Given the description of an element on the screen output the (x, y) to click on. 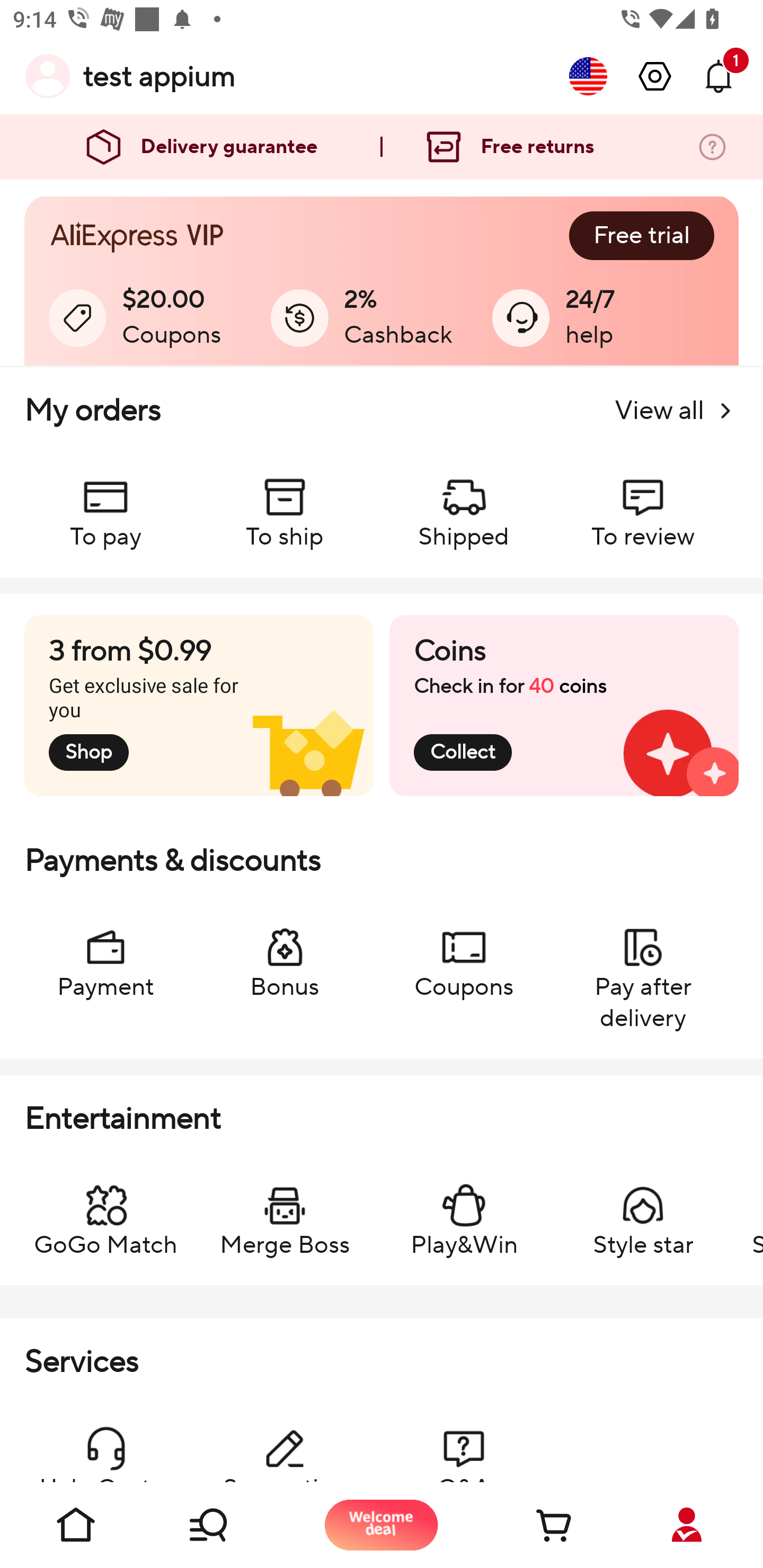
 (654, 75)
Messages 1 (718, 75)
test appium (158, 75)
Free trial $20.00 Coupons 2% Cashback 24/7 help (381, 281)
View all (676, 410)
To pay (105, 503)
To ship (284, 503)
Shipped (463, 503)
To review (642, 503)
3 from $0.99 Get exclusive sale for you Shop (198, 705)
Coins Check in for 40 coins Collect (563, 705)
Payment (105, 953)
Bonus (284, 953)
Coupons (463, 953)
Pay after delivery (642, 969)
GoGo Match (105, 1211)
Merge Boss (284, 1211)
Play&Win (463, 1211)
Style star (642, 1211)
Help Center (105, 1443)
Suggestion (284, 1443)
Q&A (463, 1443)
Home (76, 1524)
Shop (228, 1524)
Cart (533, 1524)
